Given the description of an element on the screen output the (x, y) to click on. 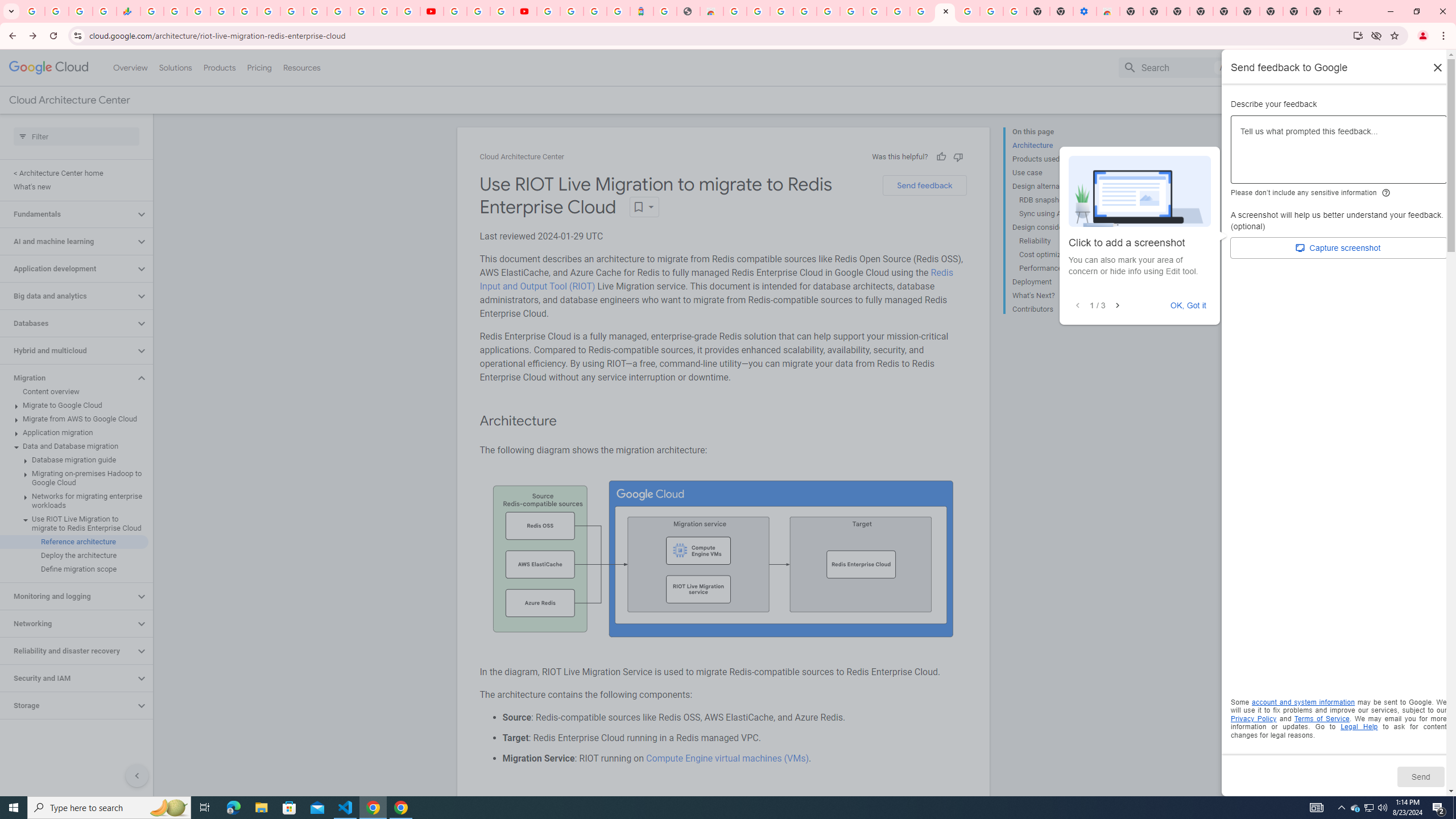
Previous (1078, 305)
Redis Input and Output Tool (RIOT) (716, 278)
Atour Hotel - Google hotels (641, 11)
Google Cloud (48, 67)
Google Account Help (478, 11)
New Tab (1131, 11)
Chrome Web Store - Household (711, 11)
Monitoring and logging (67, 596)
Capture screenshot (1338, 247)
